Given the description of an element on the screen output the (x, y) to click on. 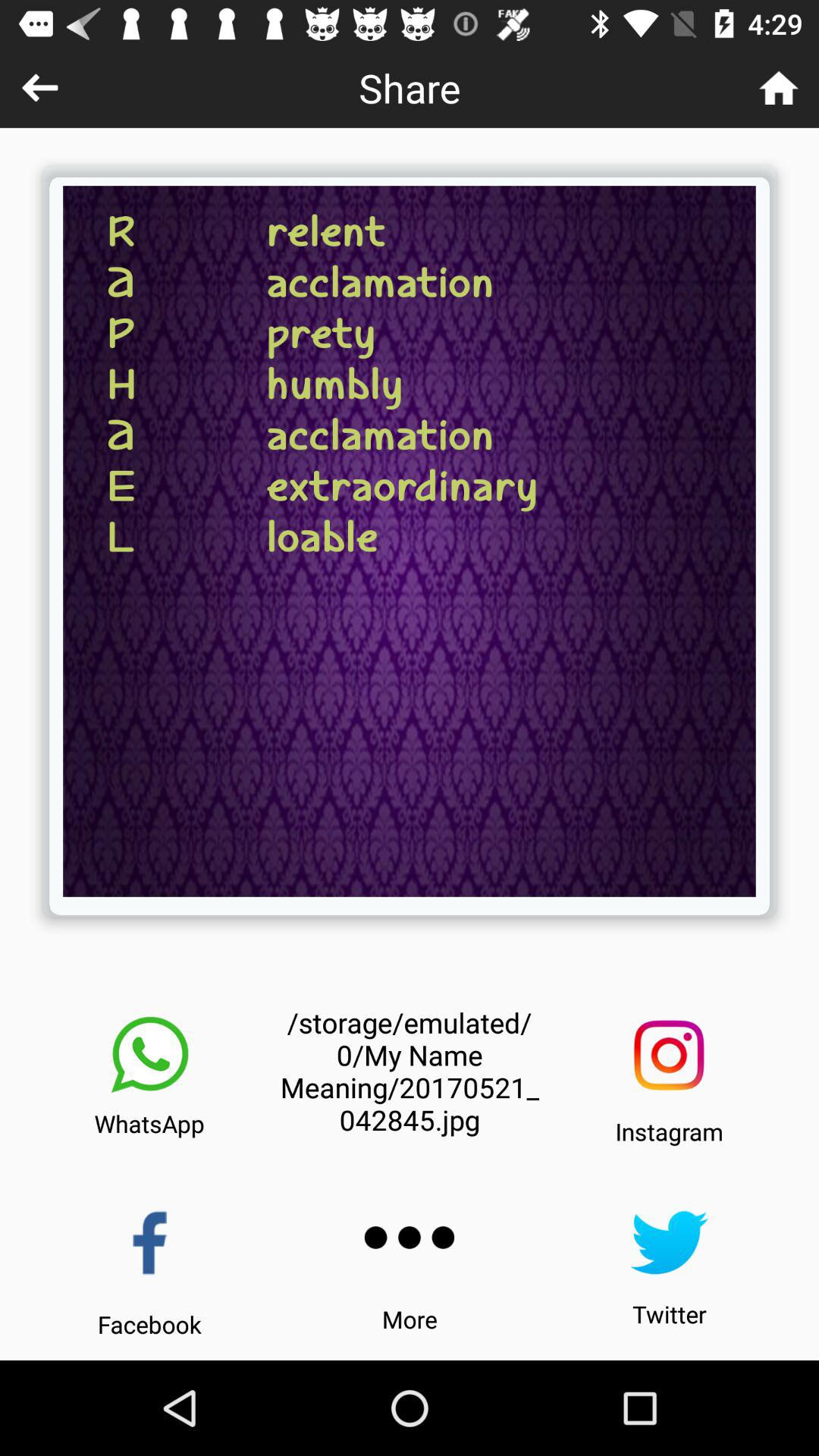
tap item to the left of the share item (39, 87)
